Given the description of an element on the screen output the (x, y) to click on. 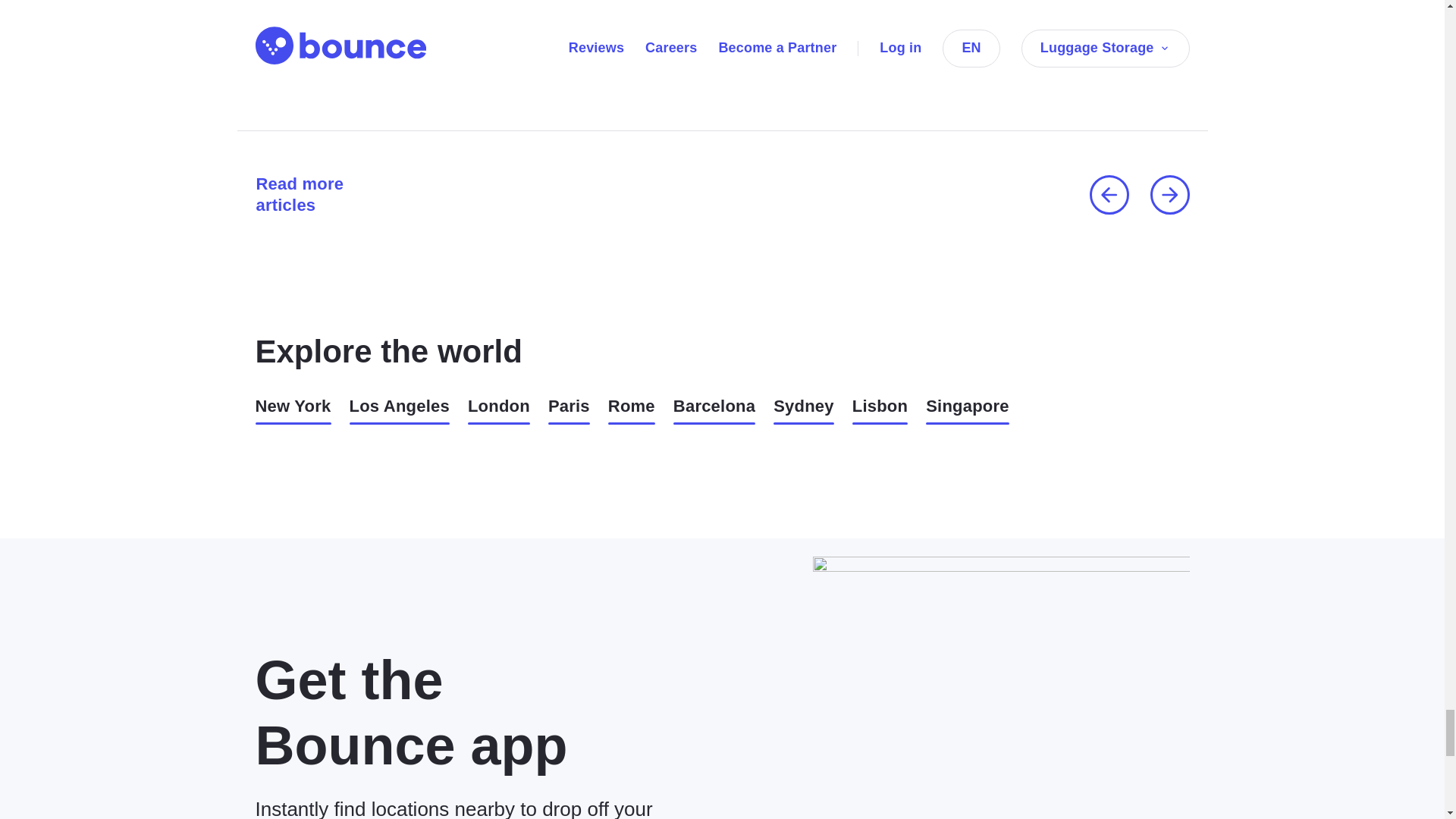
Everything You Need To Know About Shopping In Paris (480, 65)
Barcelona (713, 410)
Lisbon (879, 410)
London (498, 410)
Rome (631, 410)
Singapore (967, 410)
Read more articles (320, 194)
Los Angeles (398, 410)
New York (292, 410)
